Given the description of an element on the screen output the (x, y) to click on. 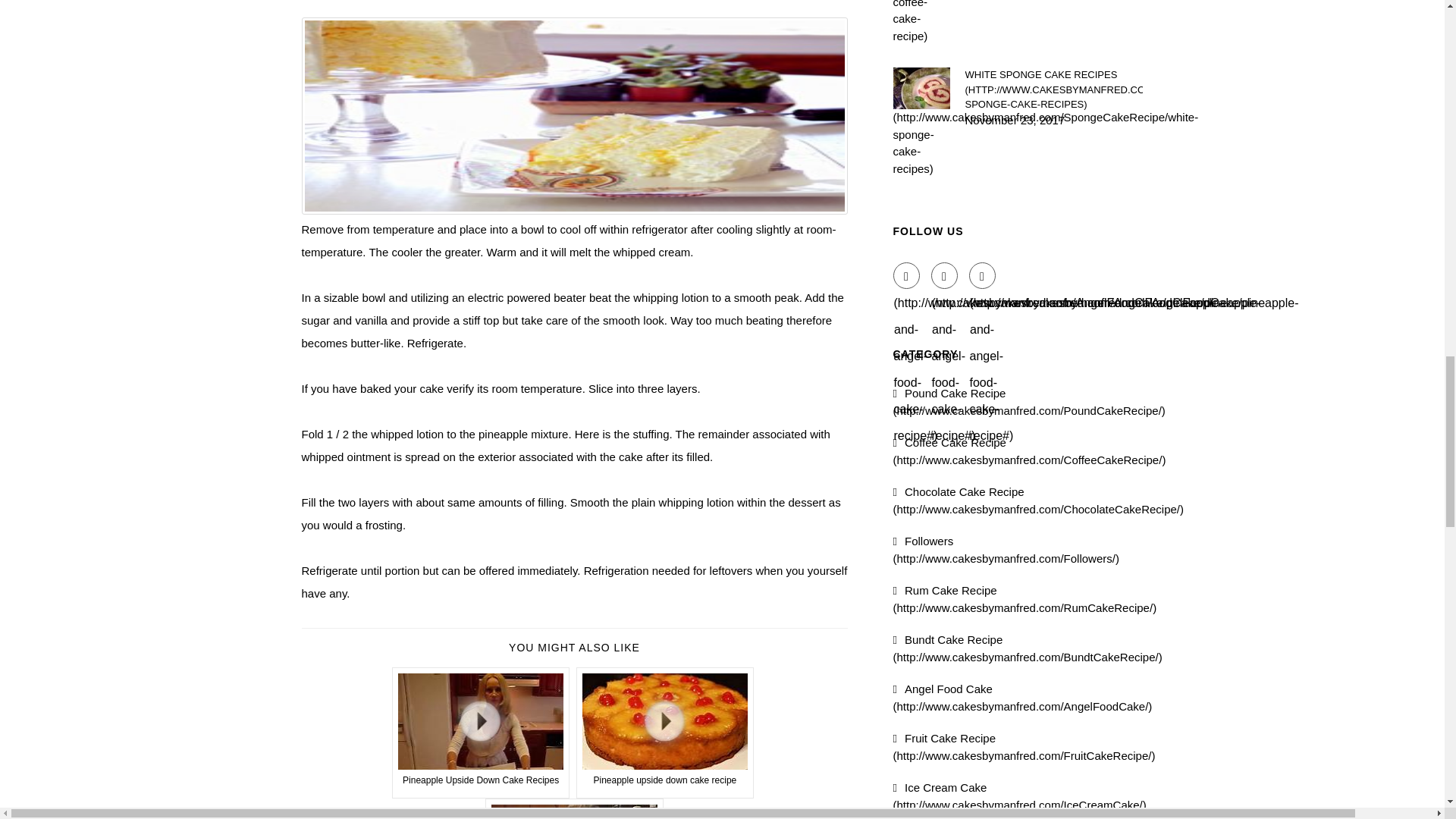
View all posts filed under Angel Food Cake (1023, 697)
Twitter (944, 275)
Video temporarily unavailable (665, 732)
View all posts filed under Bundt Cake Recipe (1027, 648)
View all posts filed under Coffee Cake Recipe (1029, 450)
View this video from YouTube (573, 808)
Google Plus (982, 275)
View all posts filed under Chocolate Cake Recipe (1039, 500)
Facebook (906, 275)
View all posts filed under Rum Cake Recipe (1025, 598)
